Given the description of an element on the screen output the (x, y) to click on. 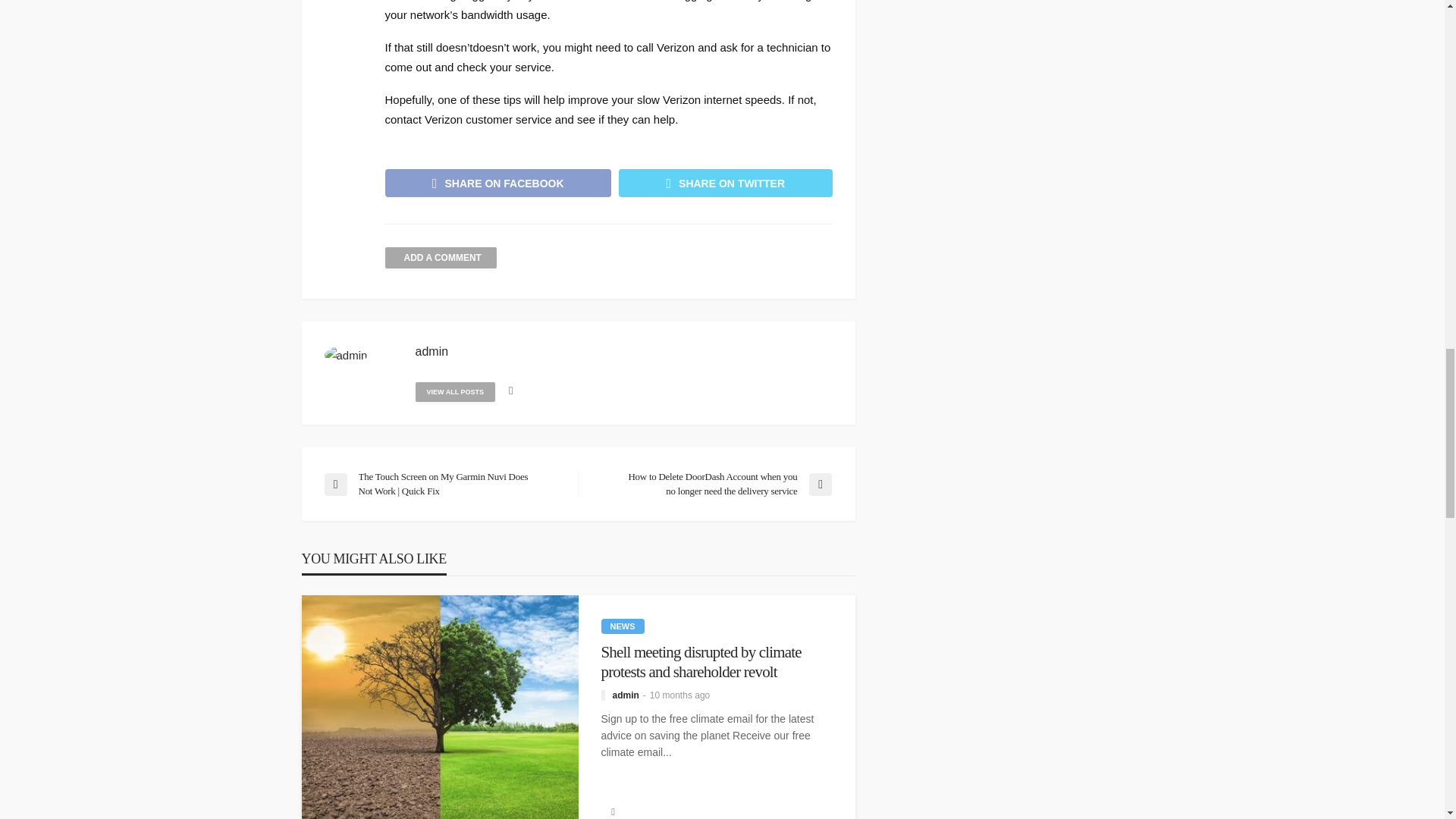
News (621, 626)
